Given the description of an element on the screen output the (x, y) to click on. 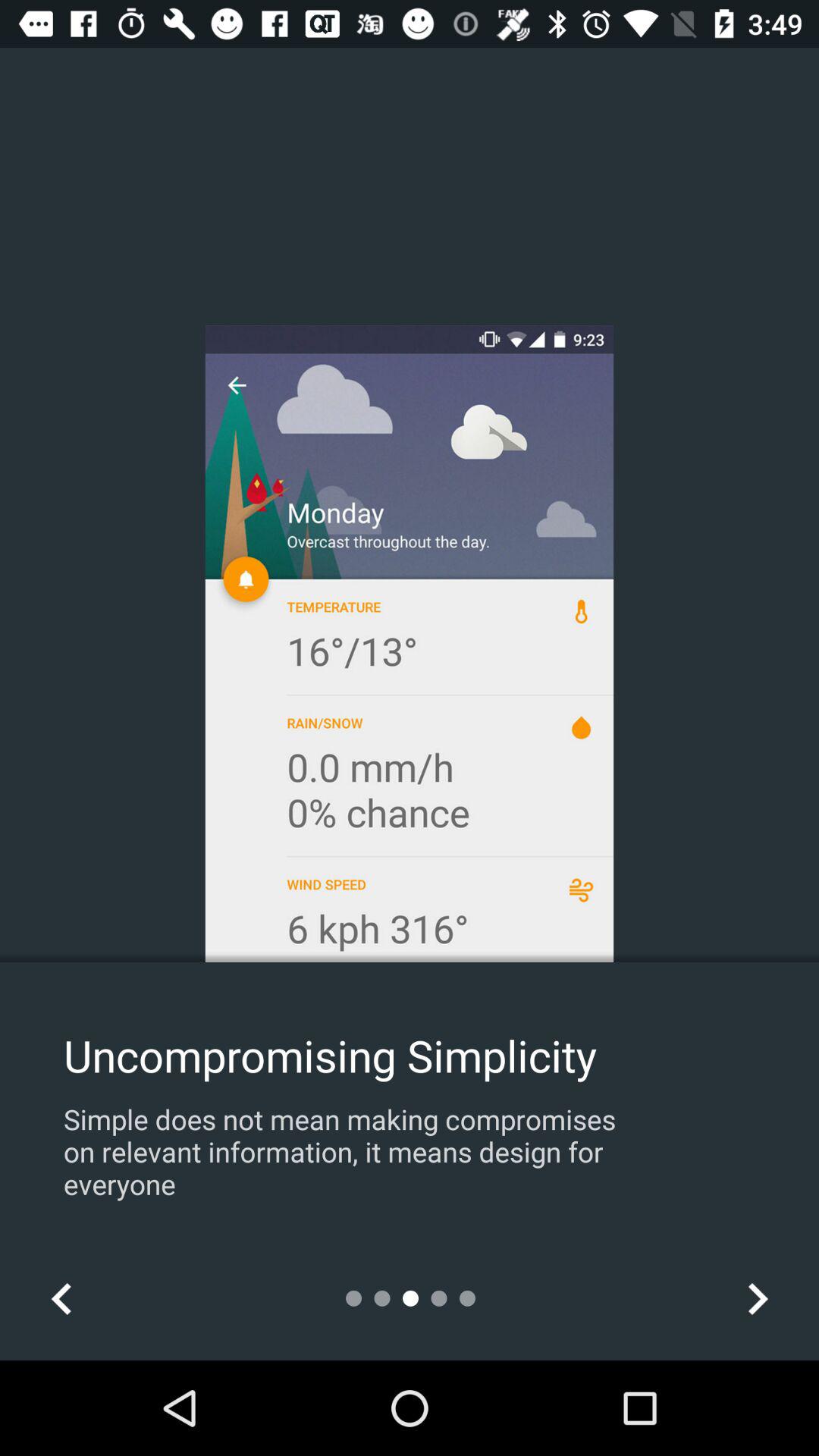
open icon at the bottom left corner (61, 1298)
